Given the description of an element on the screen output the (x, y) to click on. 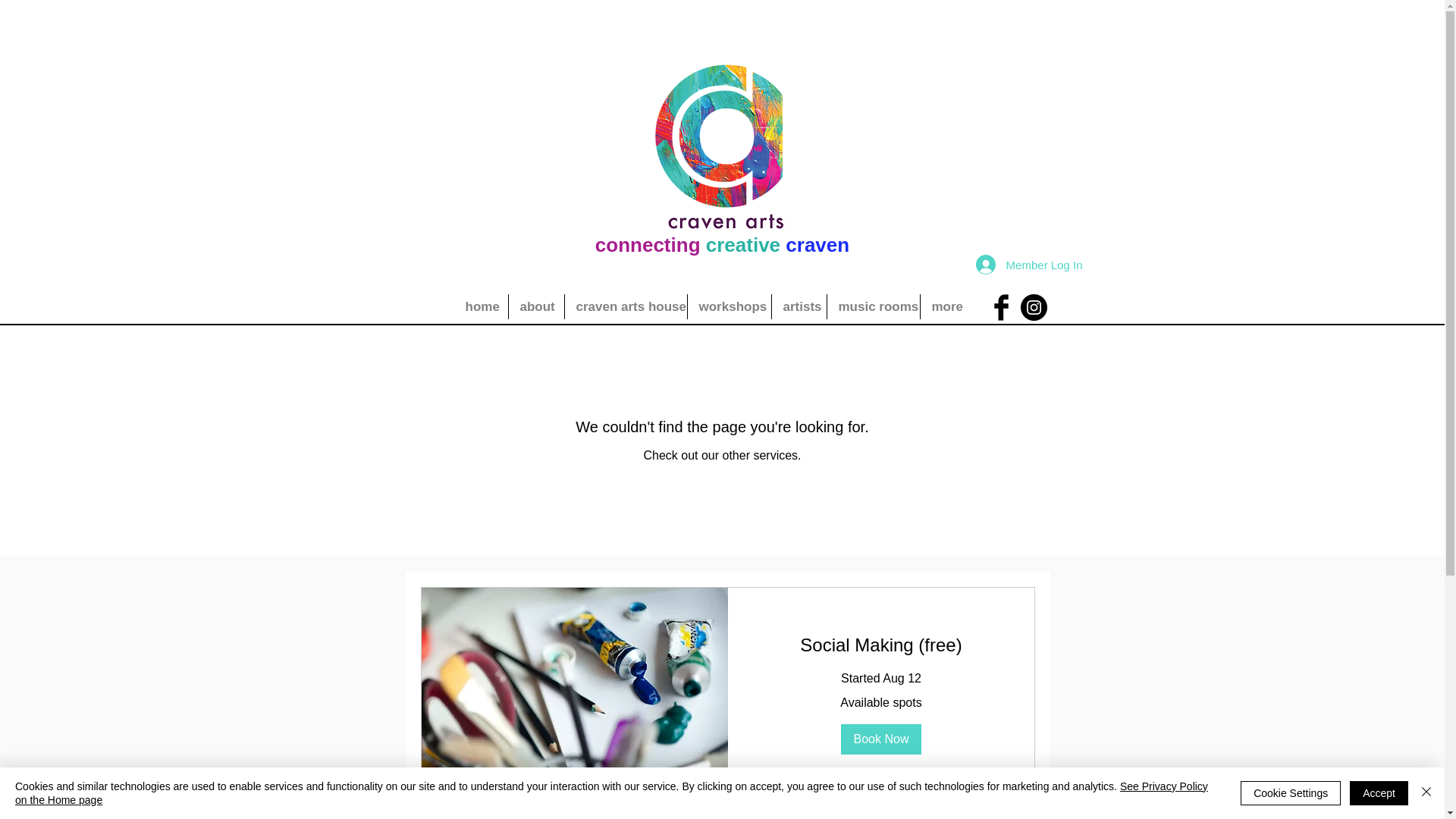
Accept (1378, 793)
home (479, 306)
music rooms (872, 306)
artists (799, 306)
craven arts house (624, 306)
Book Now (880, 738)
about (535, 306)
Cookie Settings (1290, 793)
Member Log In (1029, 264)
See Privacy Policy on the Home page (611, 792)
